Given the description of an element on the screen output the (x, y) to click on. 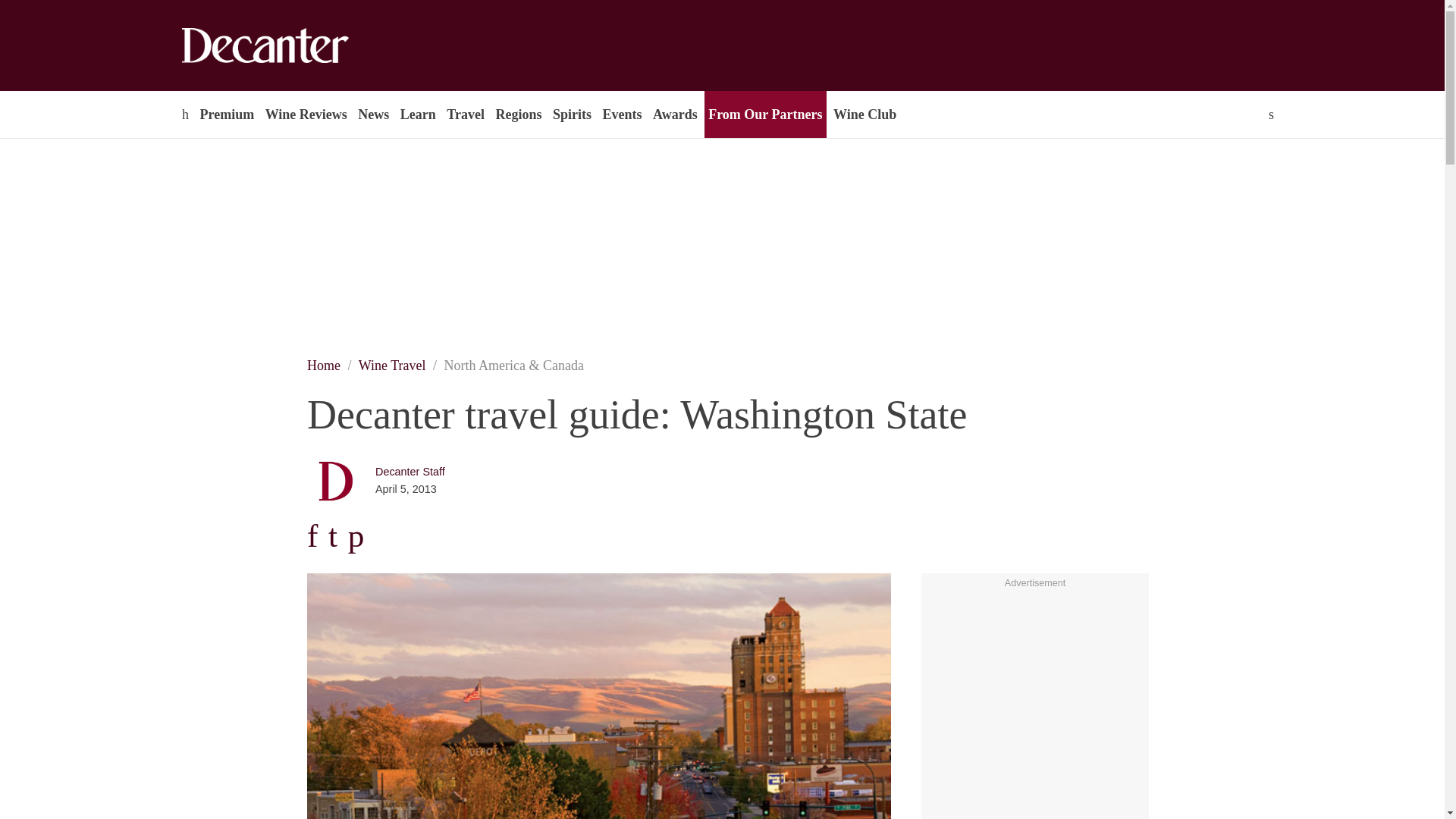
Travel (464, 114)
Premium (226, 114)
Awards (675, 114)
Wine Reviews (306, 114)
Decanter (297, 45)
Learn (417, 114)
